Given the description of an element on the screen output the (x, y) to click on. 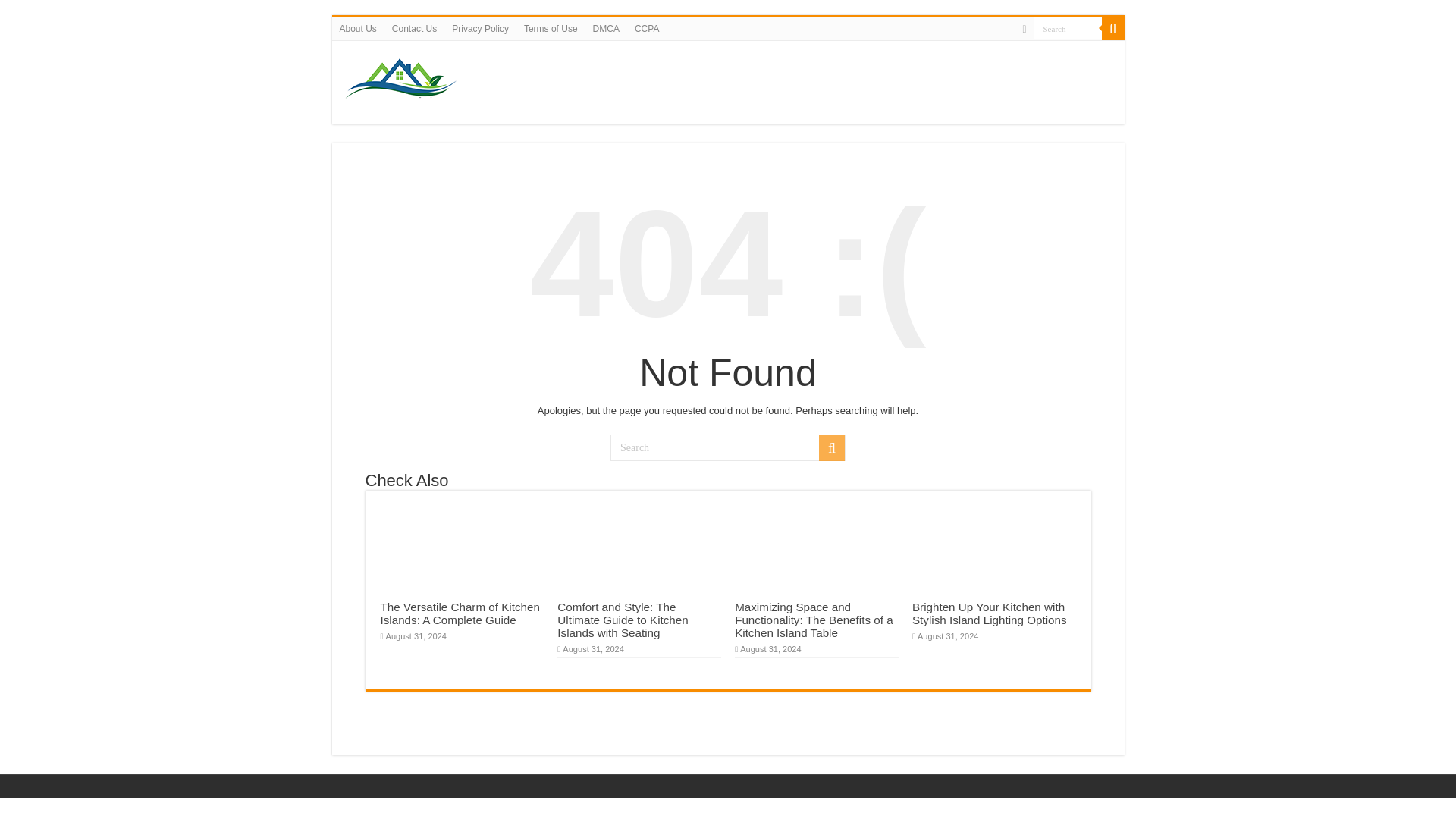
Search (727, 447)
Search (1066, 28)
Search (1066, 28)
Search (831, 447)
CCPA (646, 28)
Search (1112, 28)
Decorationg (403, 79)
Contact Us (414, 28)
DMCA (606, 28)
Privacy Policy (480, 28)
